Given the description of an element on the screen output the (x, y) to click on. 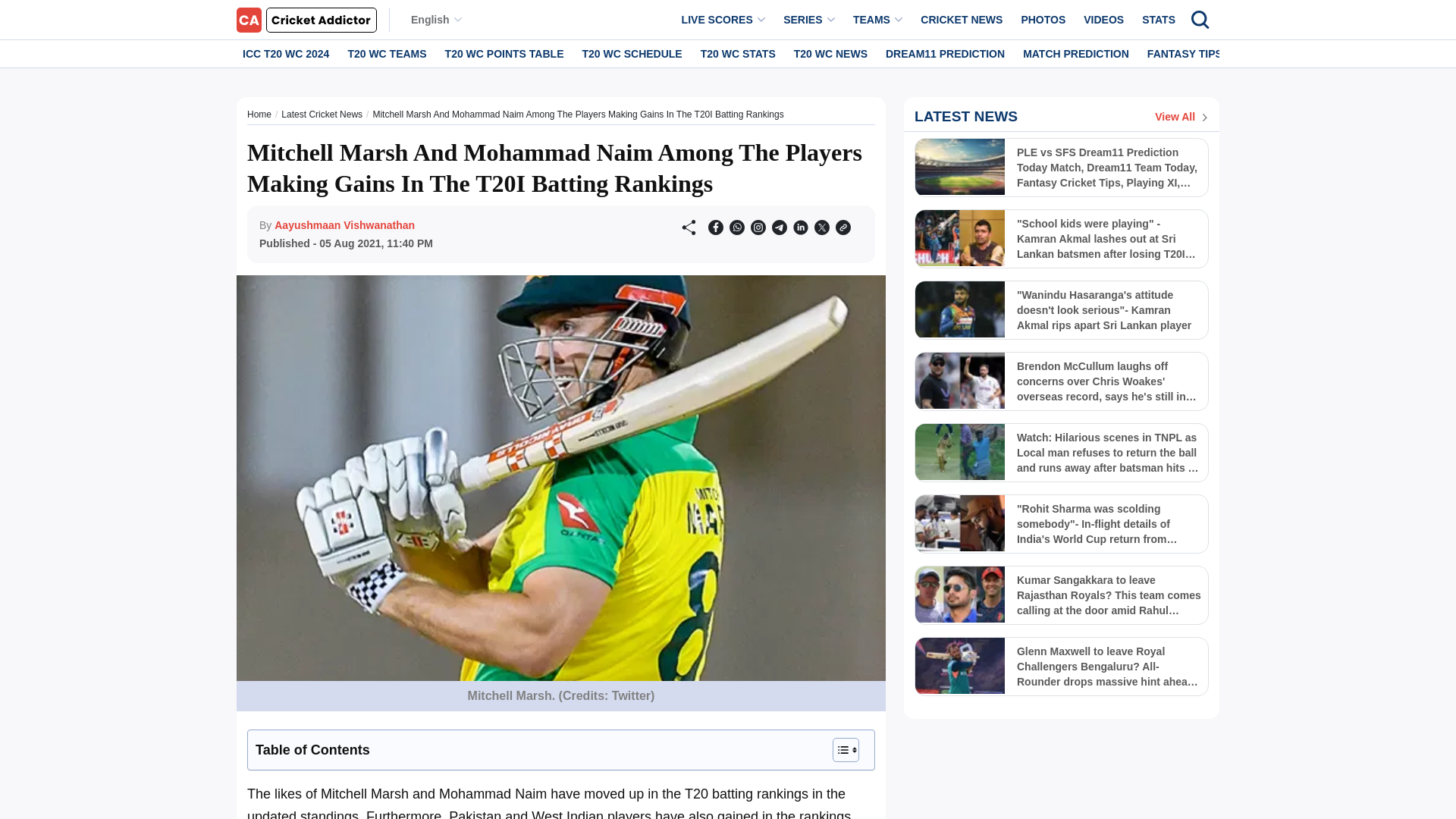
VIDEOS (1103, 19)
STATS (1157, 19)
T20 WC POINTS TABLE (504, 53)
PHOTOS (1042, 19)
ICC T20 WC 2024 (284, 53)
TEAMS (877, 19)
LIVE SCORES (723, 19)
English (435, 19)
SERIES (809, 19)
CRICKET NEWS (961, 19)
T20 WC TEAMS (386, 53)
